Given the description of an element on the screen output the (x, y) to click on. 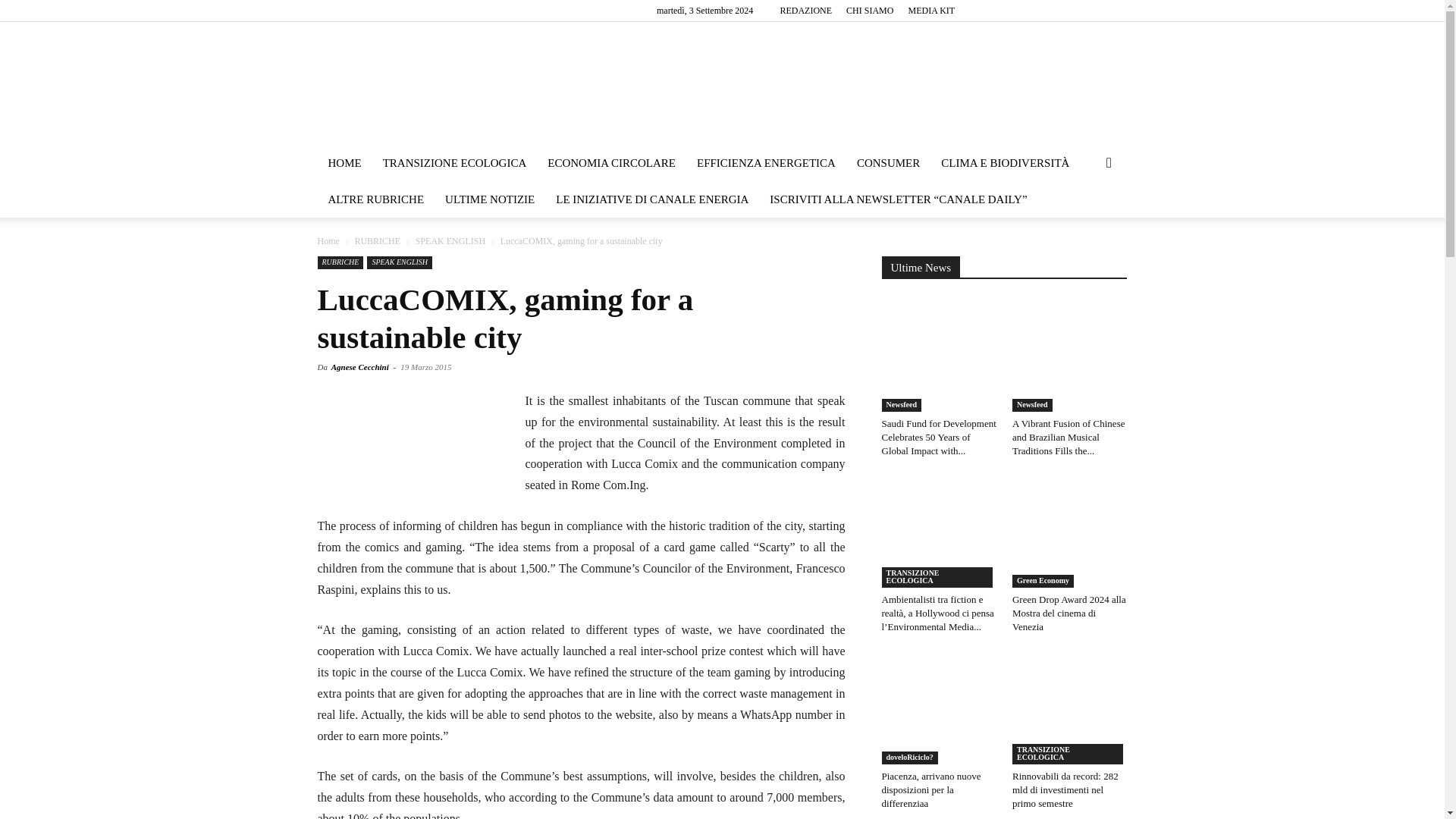
REDAZIONE (804, 9)
Canale energia quotidiano online (721, 83)
Instagram (1015, 10)
Youtube (1114, 10)
Telegram (1065, 10)
Linkedin (1040, 10)
Facebook (989, 10)
Twitter (1090, 10)
